Given the description of an element on the screen output the (x, y) to click on. 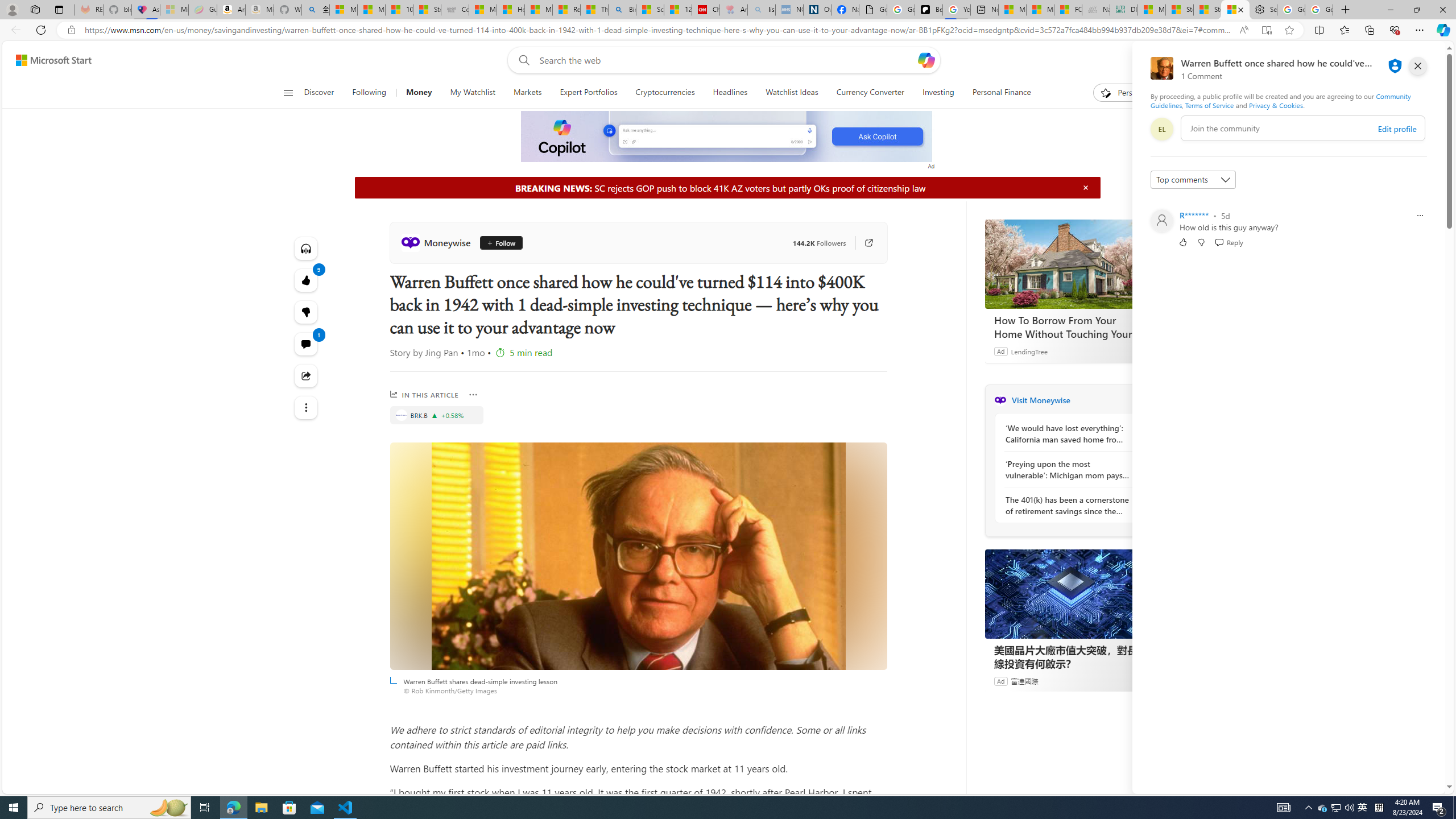
Watchlist Ideas (791, 92)
Personal Finance (996, 92)
Personal Finance (1001, 92)
LendingTree (1029, 351)
Class: at-item (305, 407)
Web search (520, 60)
Skip to footer (46, 59)
Science - MSN (649, 9)
